Given the description of an element on the screen output the (x, y) to click on. 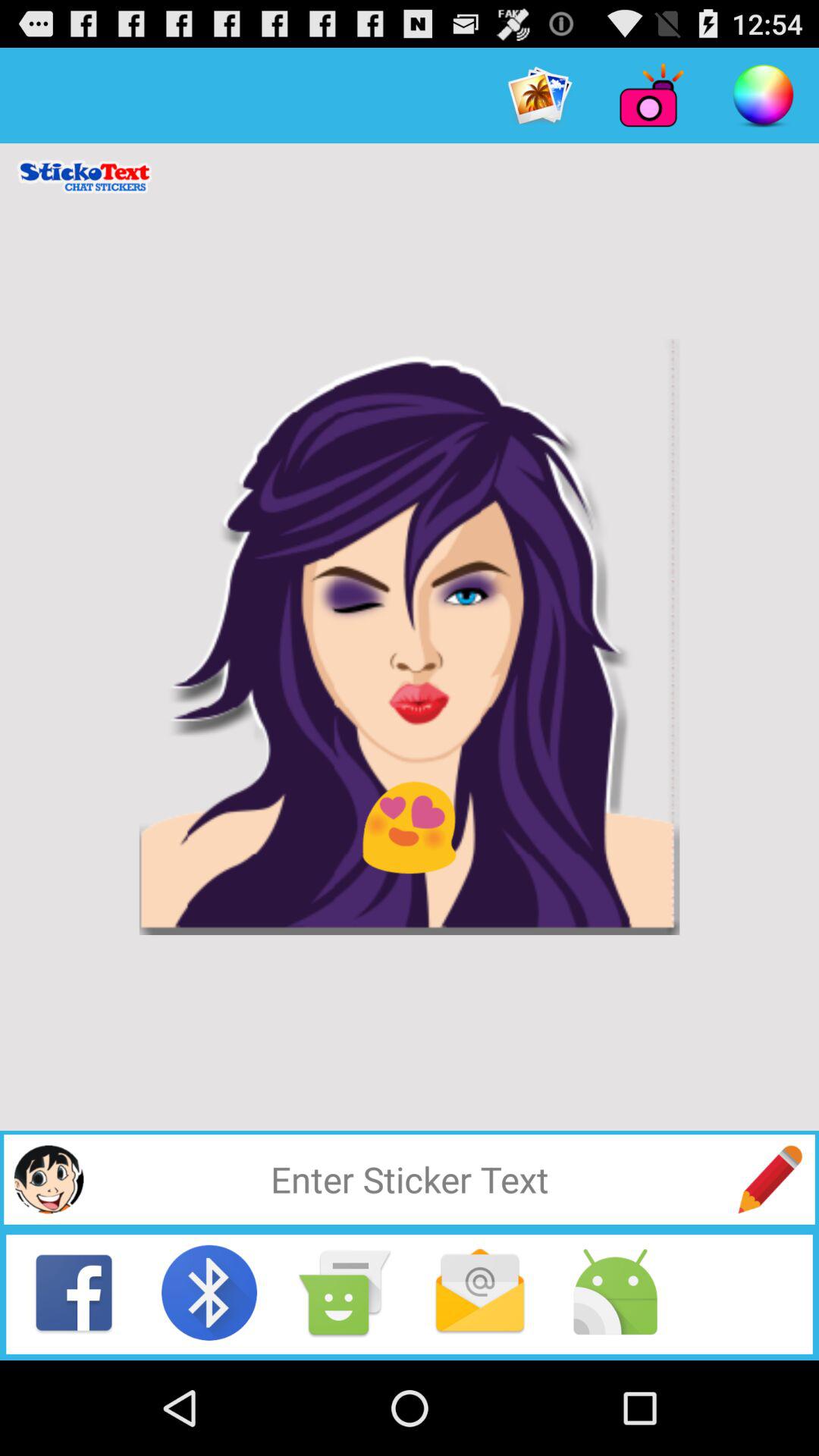
insert sticker (48, 1179)
